Given the description of an element on the screen output the (x, y) to click on. 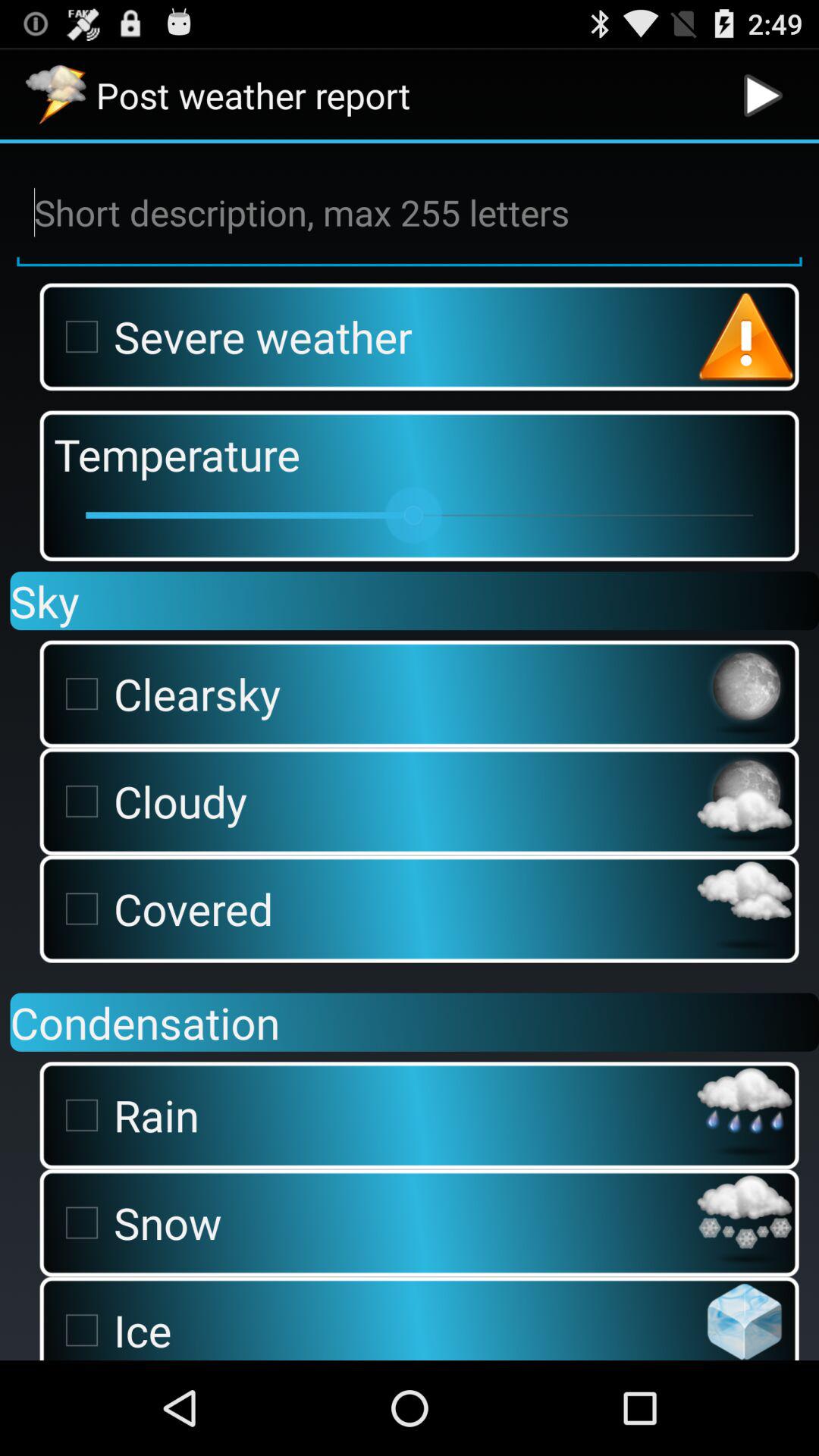
launch icon below sky app (370, 693)
